Given the description of an element on the screen output the (x, y) to click on. 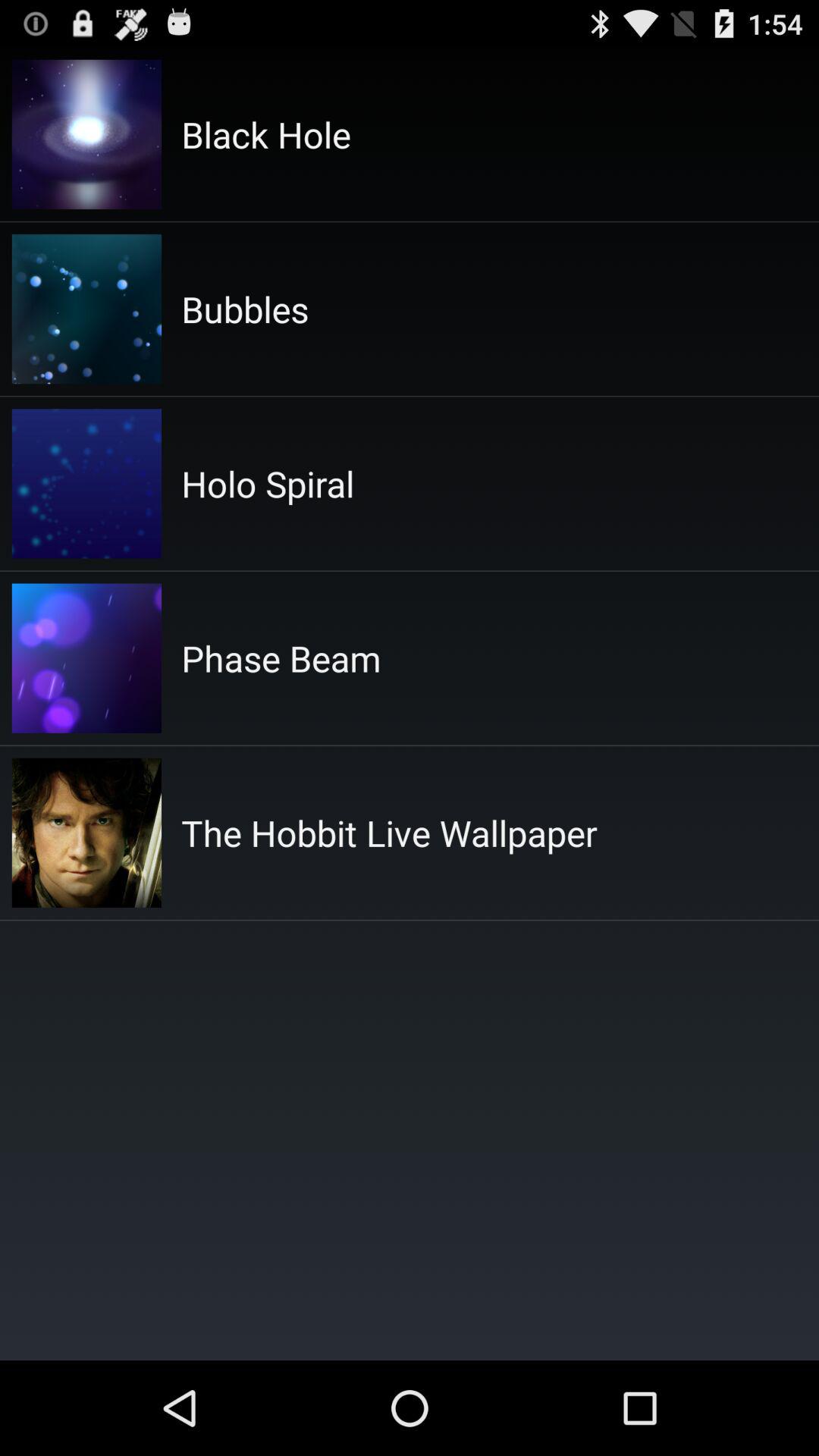
jump until the hobbit live icon (389, 832)
